Given the description of an element on the screen output the (x, y) to click on. 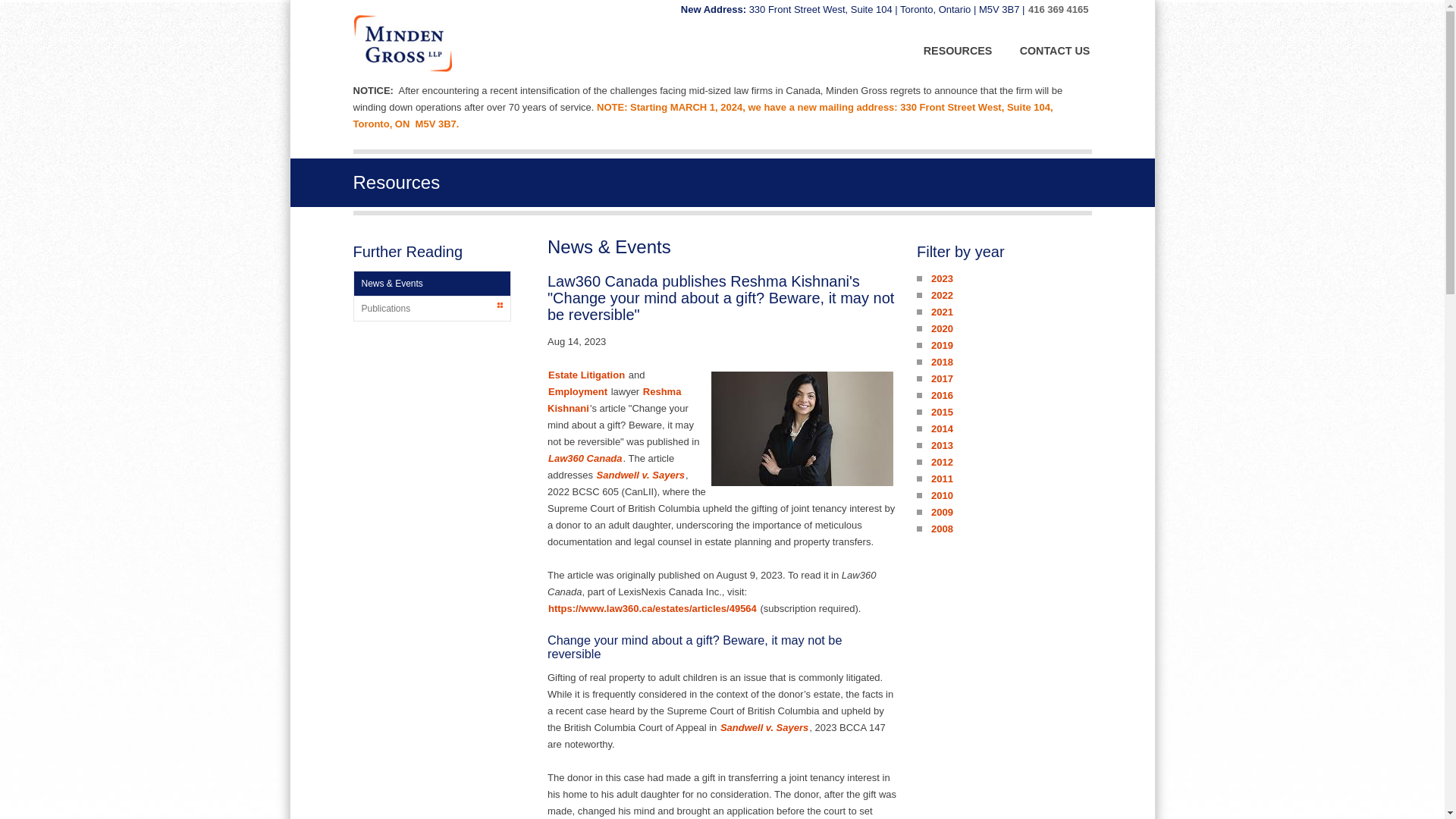
Law360 Canada (585, 458)
Law360 Canada (585, 458)
2014 (941, 428)
2022 (941, 295)
2013 (941, 445)
2021 (941, 311)
RESOURCES (958, 50)
Publications (431, 308)
Employment and Labour (577, 391)
Wills and Estates Group (586, 374)
2020 (941, 328)
2018 (941, 361)
Sandwell v. Sayers (764, 727)
Sandwell v. Sayers (640, 474)
